Given the description of an element on the screen output the (x, y) to click on. 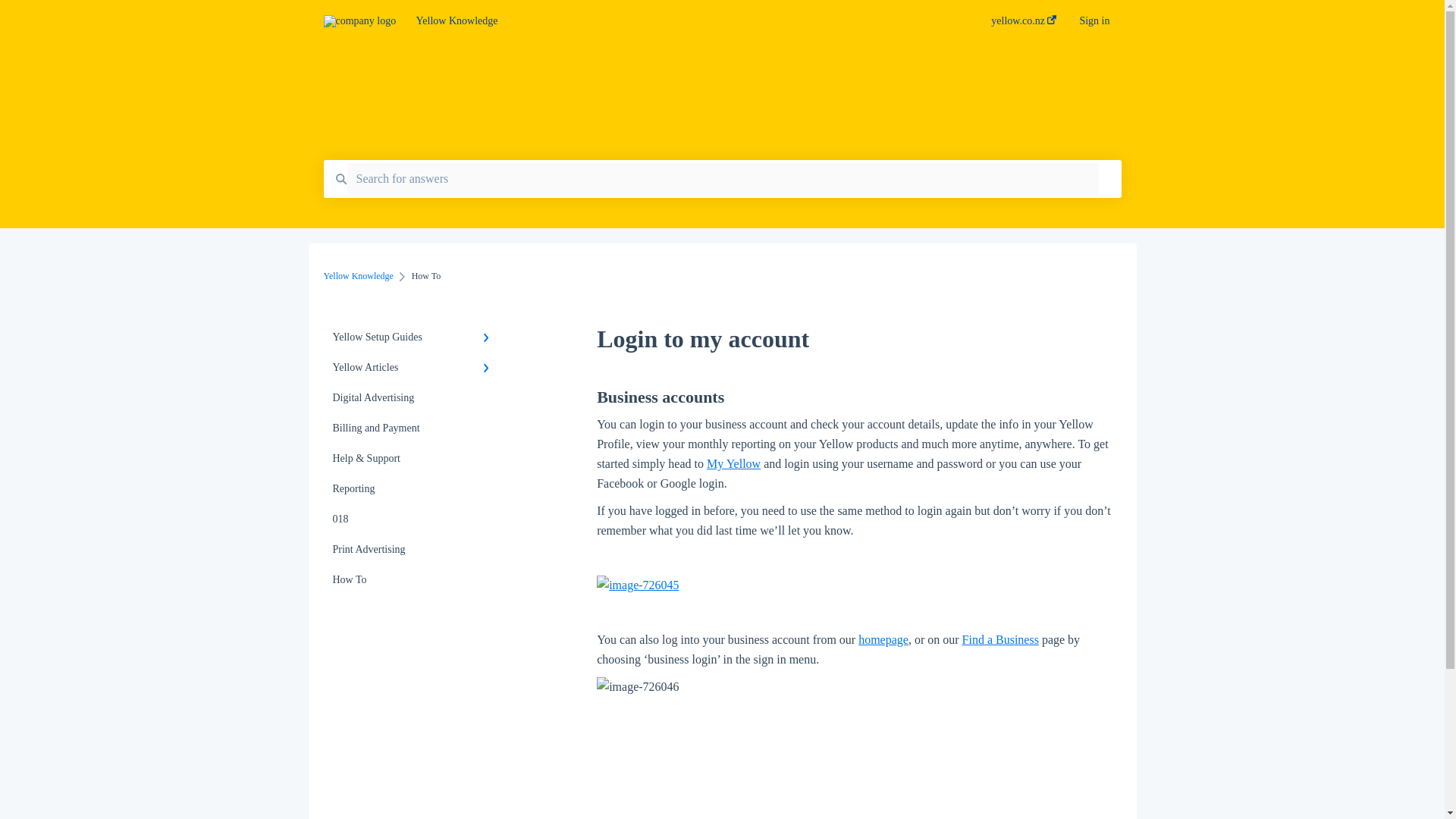
Reporting (414, 489)
My Yellow (733, 463)
Yellow Articles (414, 367)
homepage (883, 639)
018 (414, 519)
Billing and Payment (414, 428)
Print Advertising (414, 549)
How To (414, 580)
Yellow Setup Guides (414, 337)
Yellow Knowledge (681, 21)
Yellow Knowledge (358, 276)
yellow.co.nz (1024, 25)
Find a Business (1000, 639)
Digital Advertising (414, 398)
